Given the description of an element on the screen output the (x, y) to click on. 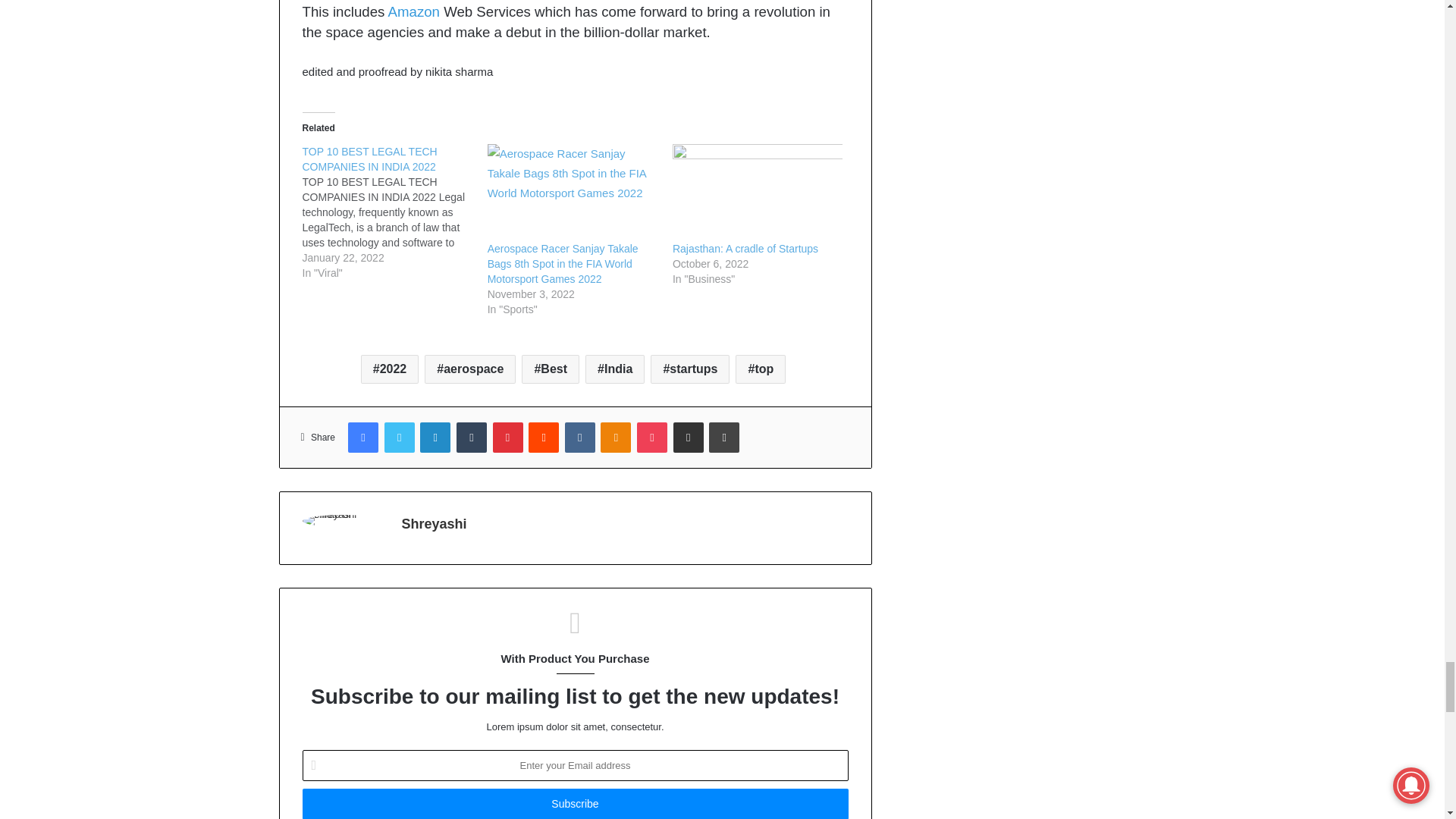
Subscribe (574, 803)
